Given the description of an element on the screen output the (x, y) to click on. 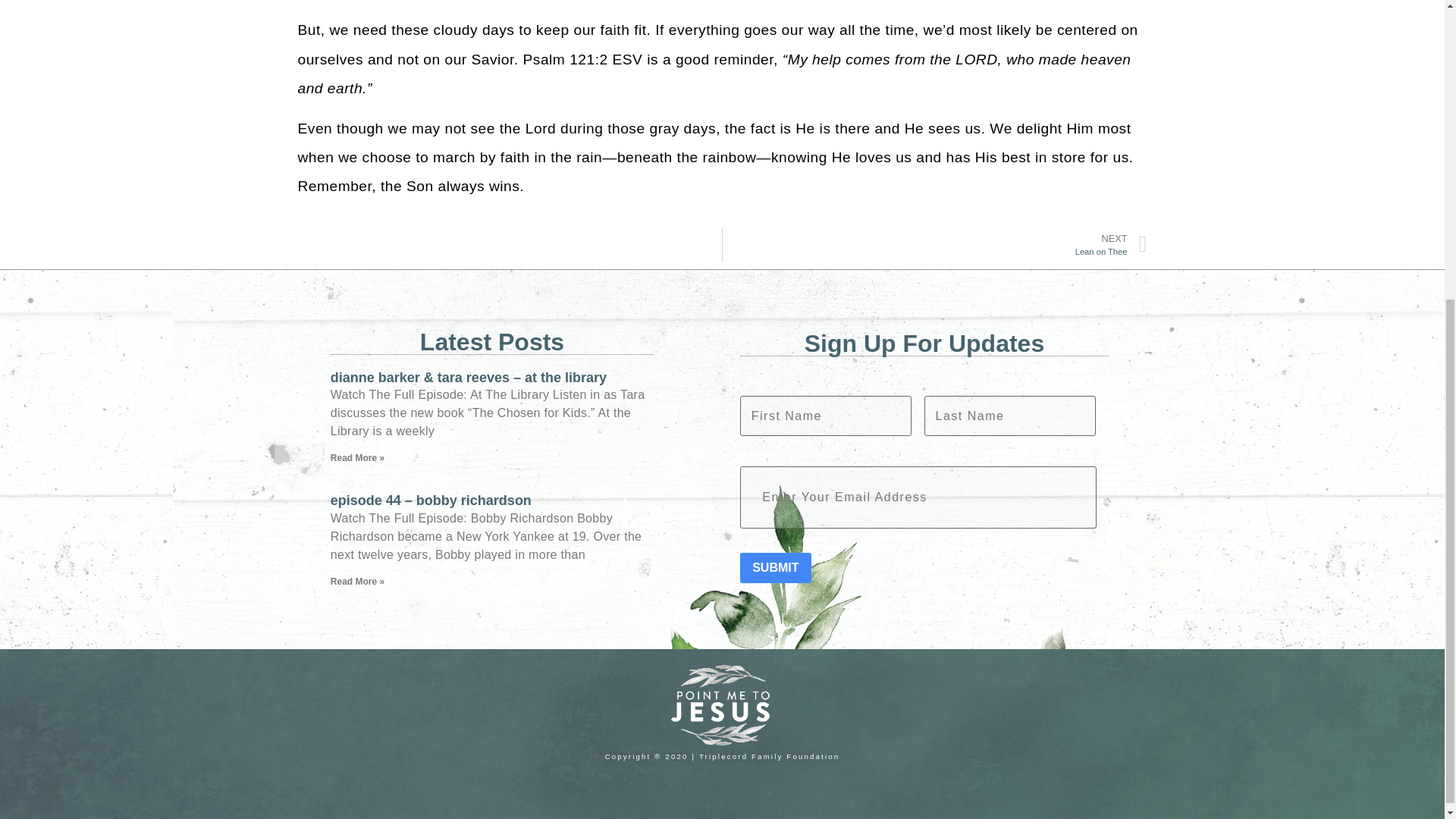
Submit (774, 567)
Submit (774, 567)
